Given the description of an element on the screen output the (x, y) to click on. 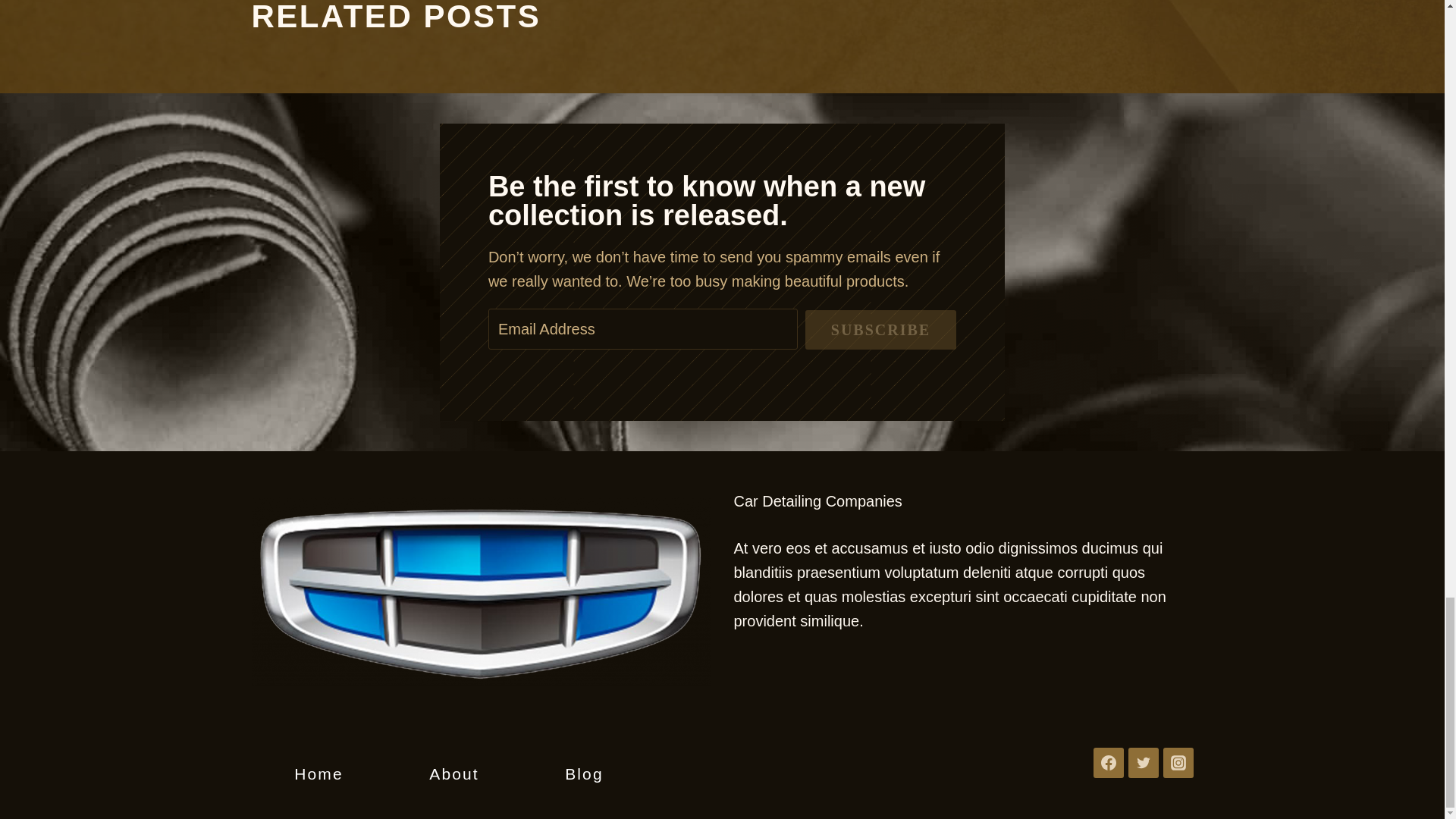
Home (318, 773)
About (454, 773)
SUBSCRIBE (880, 329)
